Given the description of an element on the screen output the (x, y) to click on. 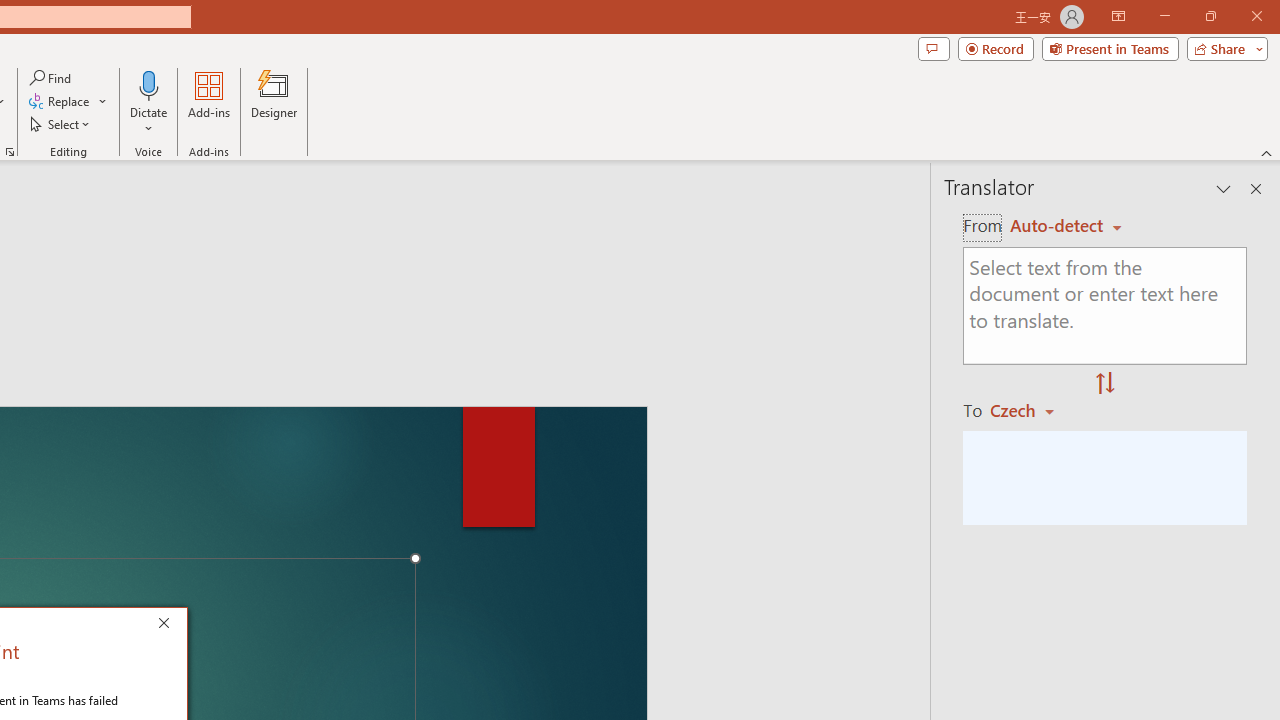
Swap "from" and "to" languages. (1105, 383)
Czech (1030, 409)
Auto-detect (1066, 225)
